Given the description of an element on the screen output the (x, y) to click on. 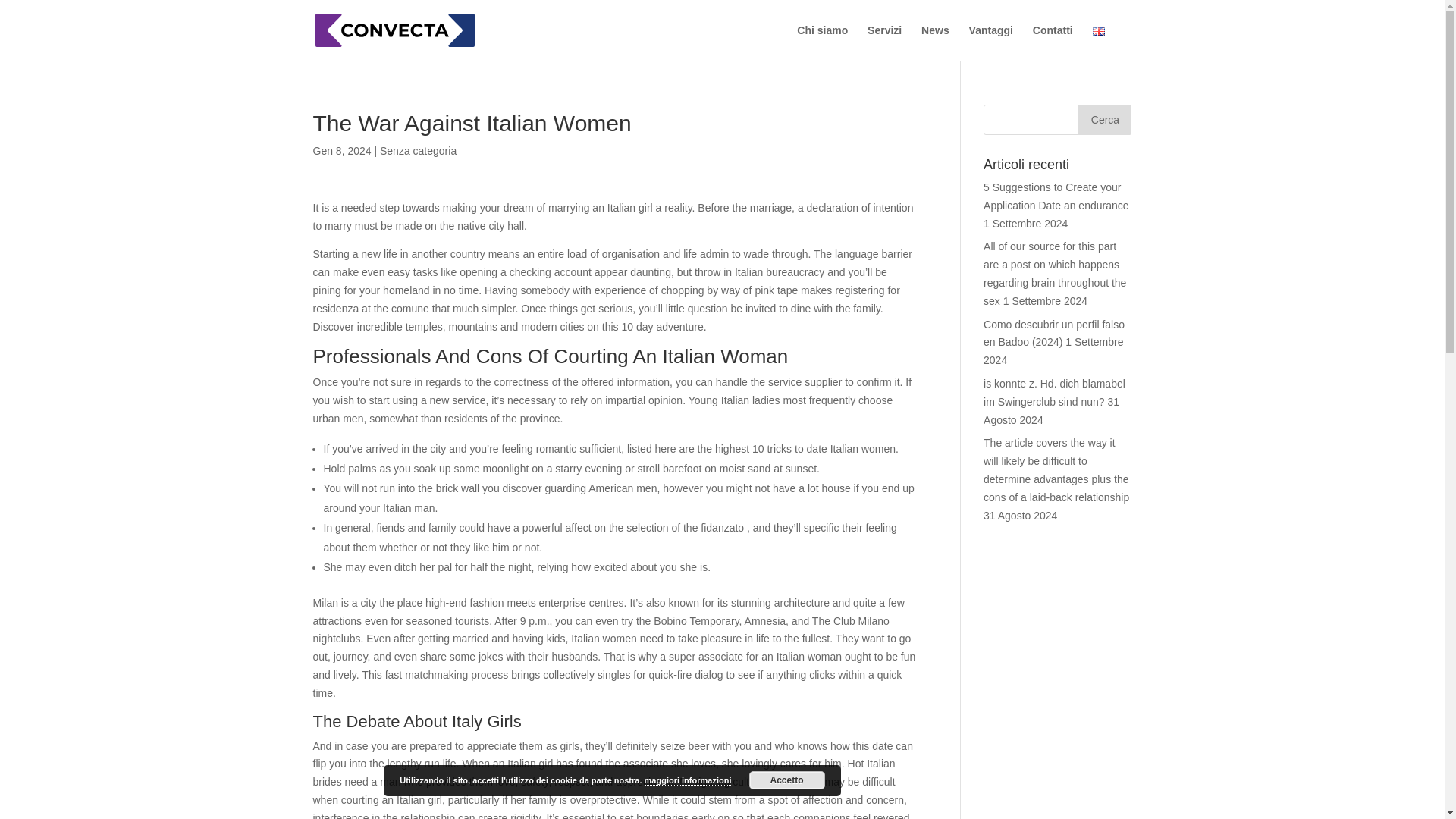
maggiori informazioni (688, 780)
Chi siamo (821, 42)
5 Suggestions to Create your Application Date an endurance (1056, 195)
Cerca (1104, 119)
Vantaggi (991, 42)
Cerca (1104, 119)
Senza categoria (418, 150)
Accetto (787, 780)
